Given the description of an element on the screen output the (x, y) to click on. 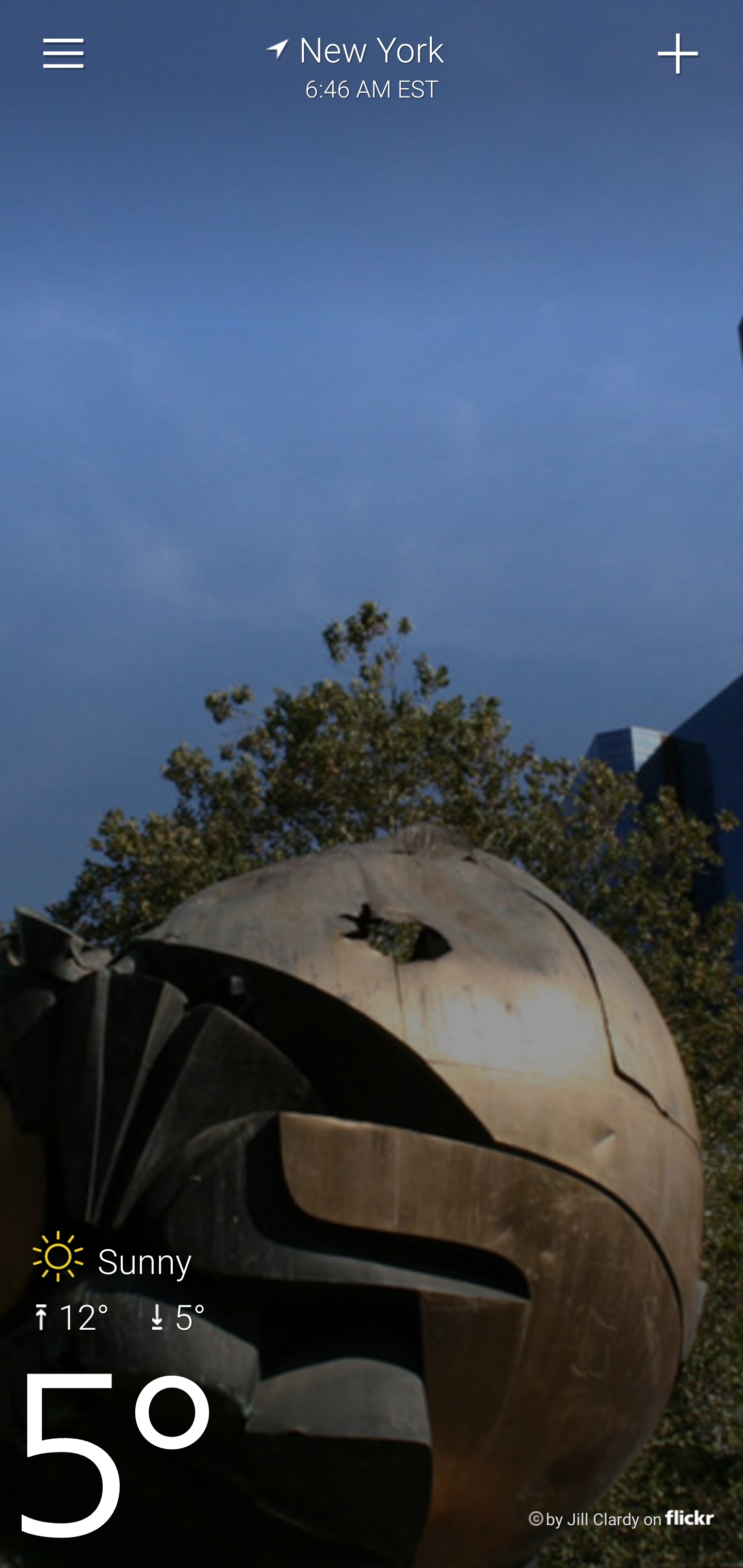
Sidebar (64, 54)
Add City (678, 53)
